Given the description of an element on the screen output the (x, y) to click on. 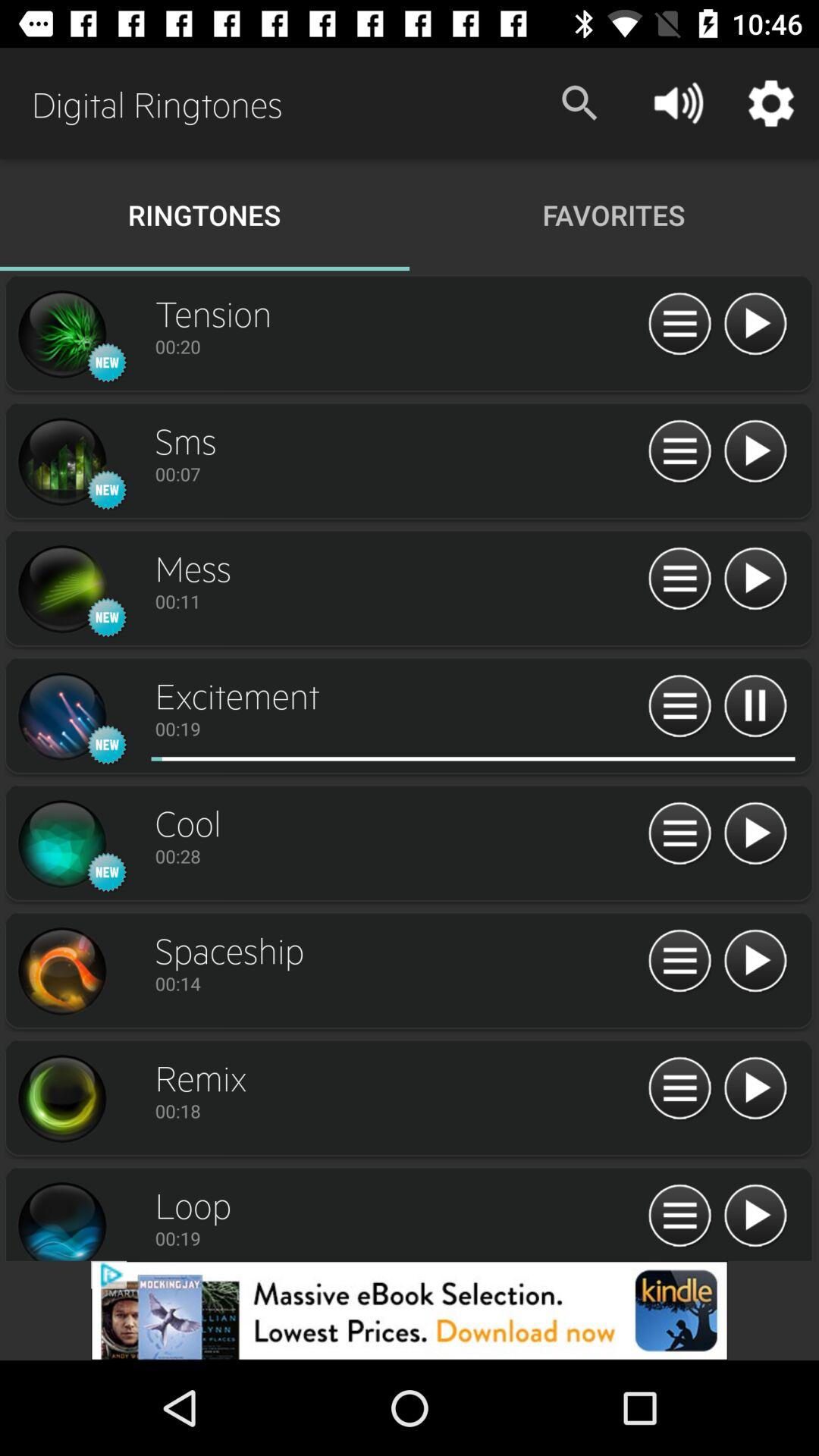
remix page (61, 1099)
